Given the description of an element on the screen output the (x, y) to click on. 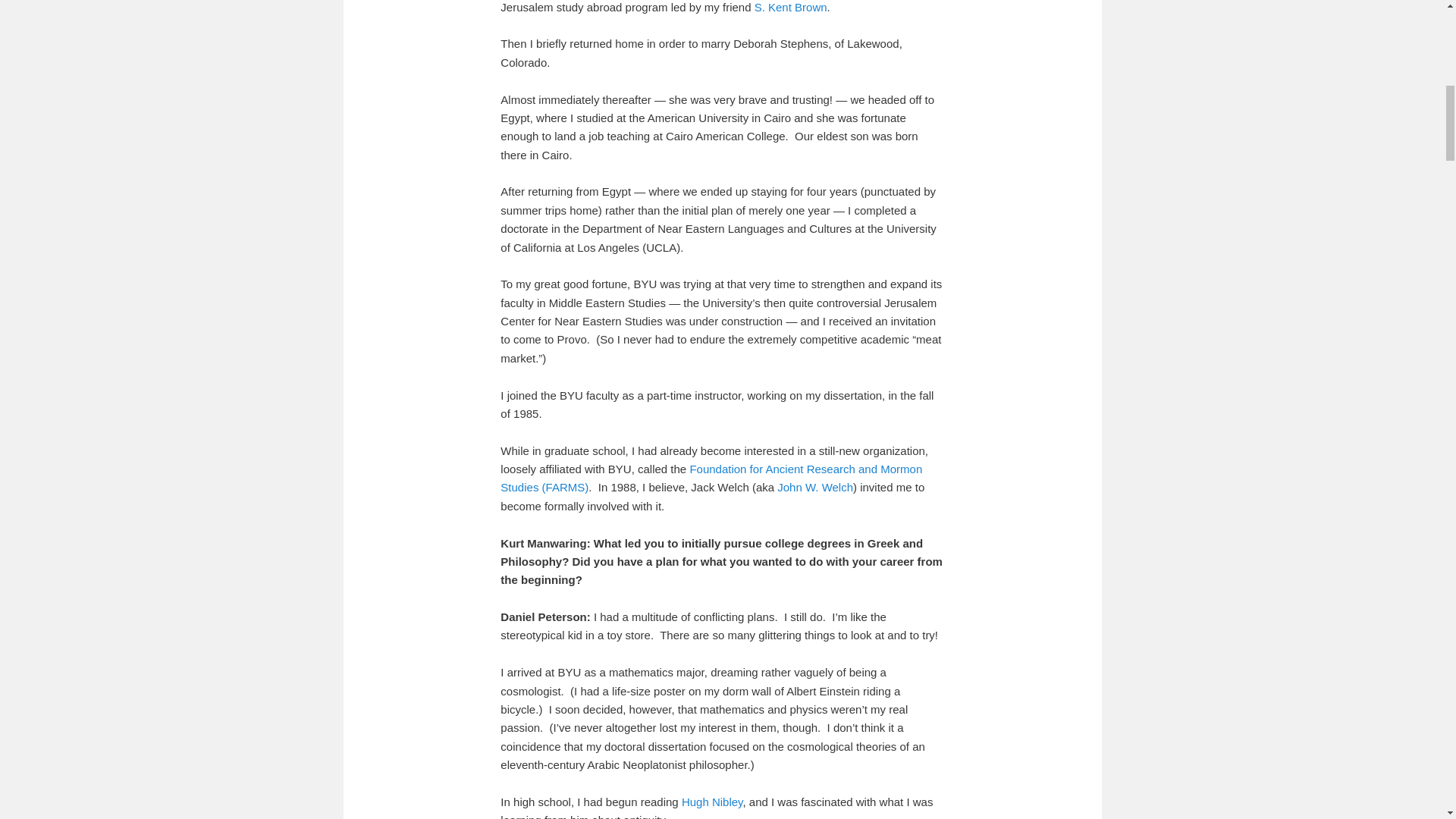
John W. Welch (815, 486)
Hugh Nibley (711, 801)
S. Kent Brown (790, 6)
